Given the description of an element on the screen output the (x, y) to click on. 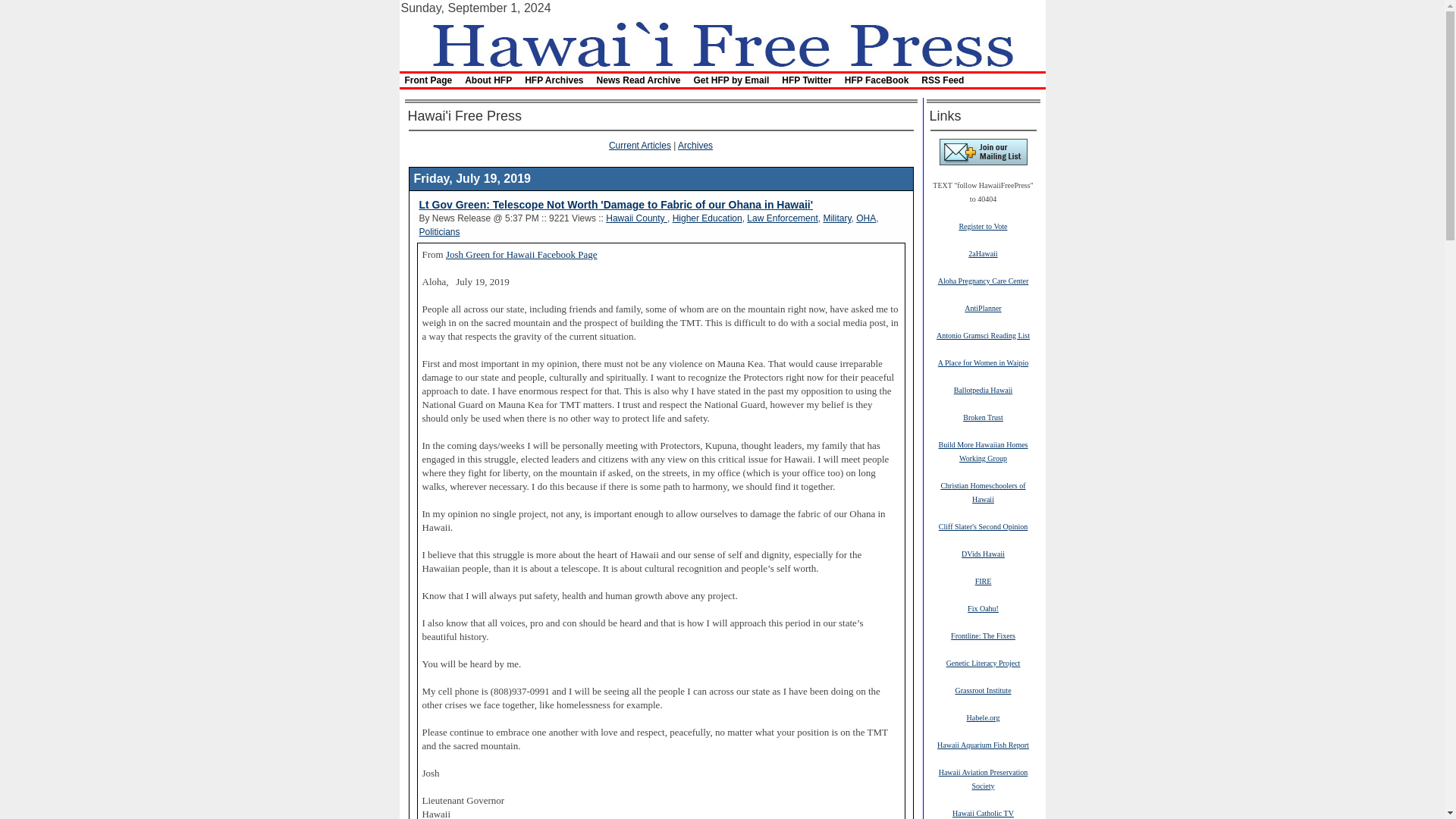
Cliff Slater's Second Opinion (983, 525)
Hawaii Aquarium Fish Report (983, 744)
Broken Trust (982, 416)
Politicians (439, 231)
Military (836, 217)
Build More Hawaiian Homes Working Group (982, 450)
Hawaii Aviation Preservation Society (983, 778)
Law Enforcement (781, 217)
AntiPlanner (982, 307)
Frontline: The Fixers (982, 634)
